Given the description of an element on the screen output the (x, y) to click on. 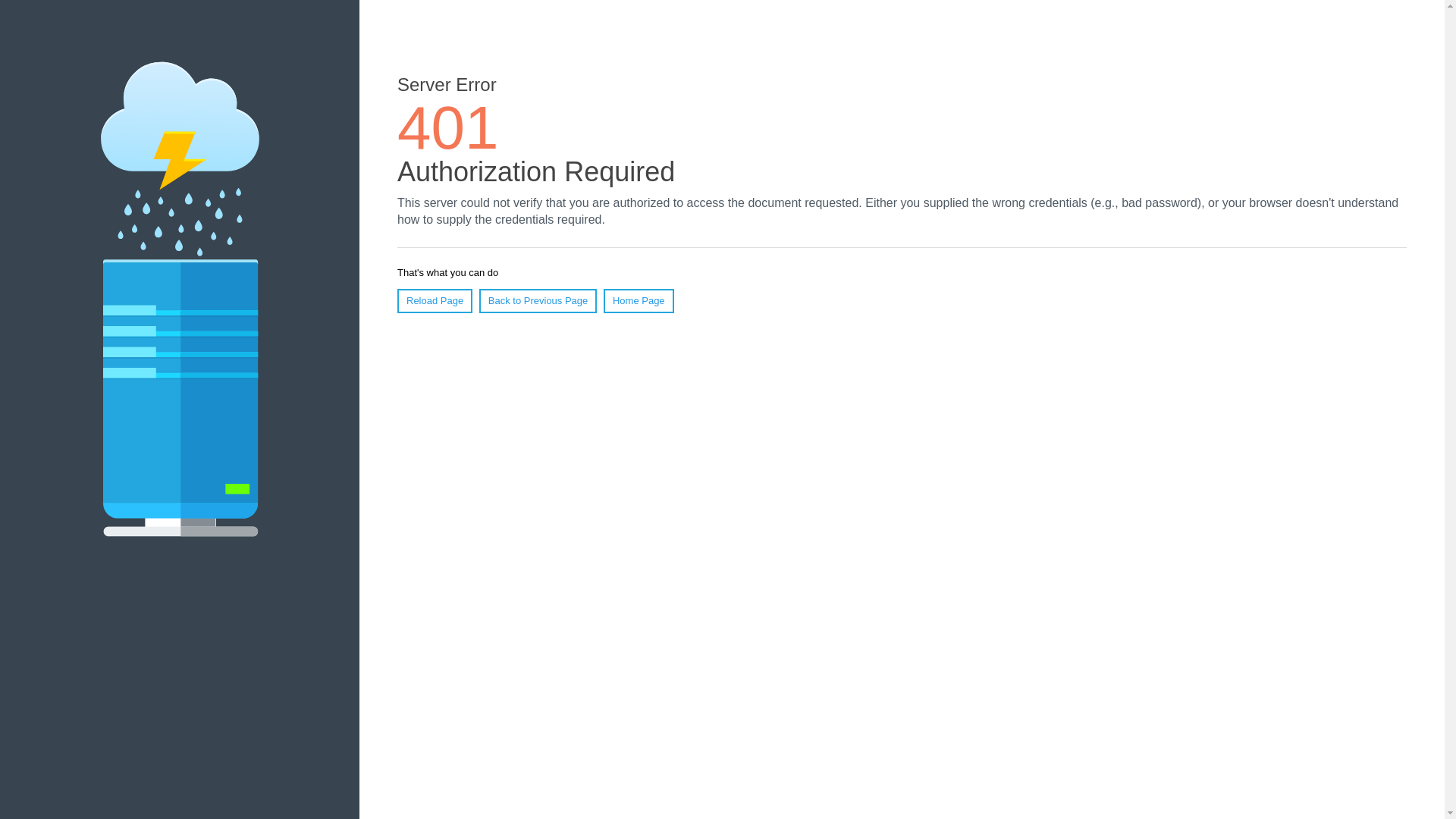
Home Page Element type: text (638, 300)
Reload Page Element type: text (434, 300)
Back to Previous Page Element type: text (538, 300)
